Given the description of an element on the screen output the (x, y) to click on. 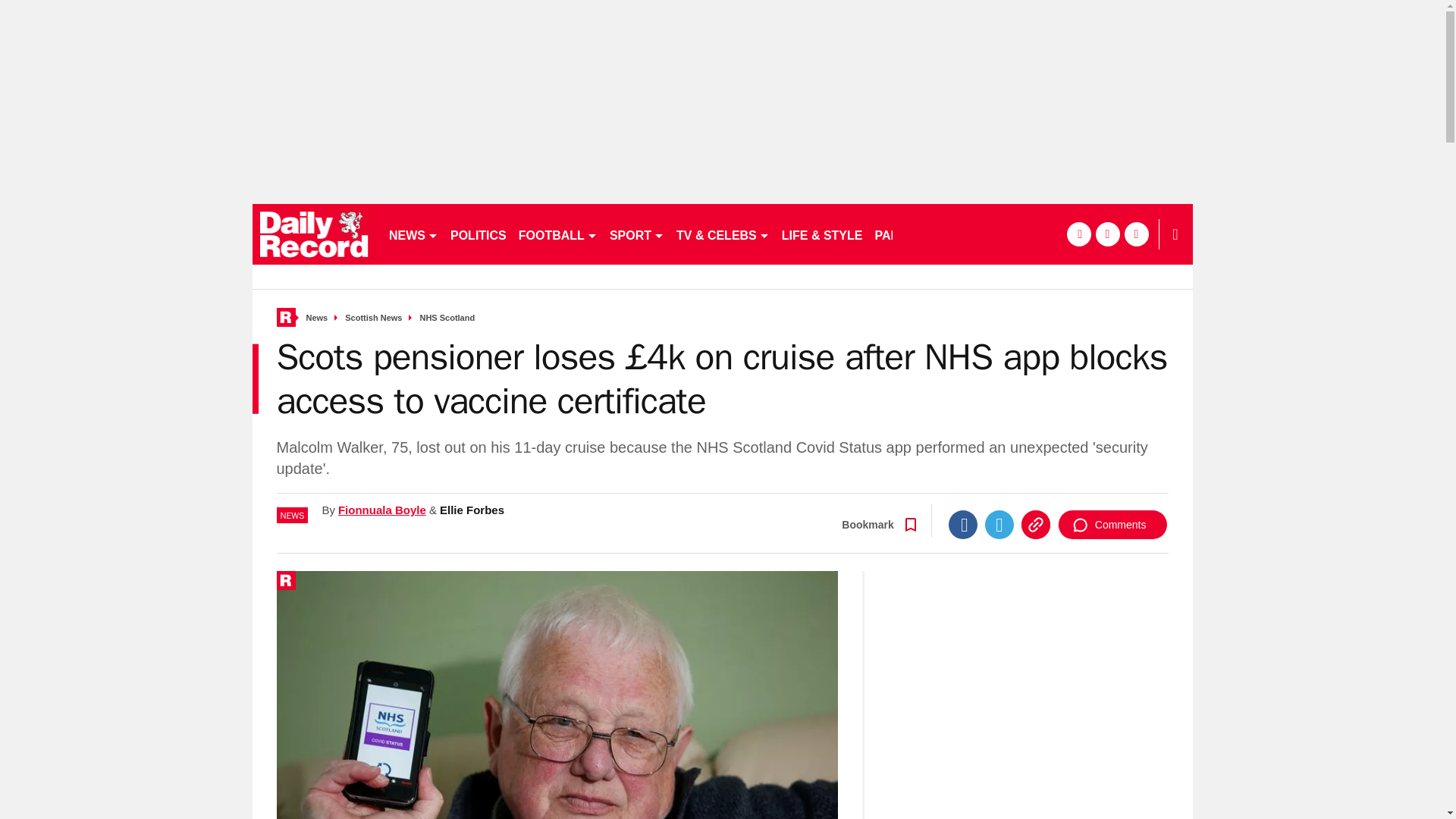
SPORT (636, 233)
facebook (1077, 233)
Comments (1112, 524)
twitter (1106, 233)
NEWS (413, 233)
FOOTBALL (558, 233)
Twitter (999, 524)
POLITICS (478, 233)
dailyrecord (313, 233)
instagram (1136, 233)
